Given the description of an element on the screen output the (x, y) to click on. 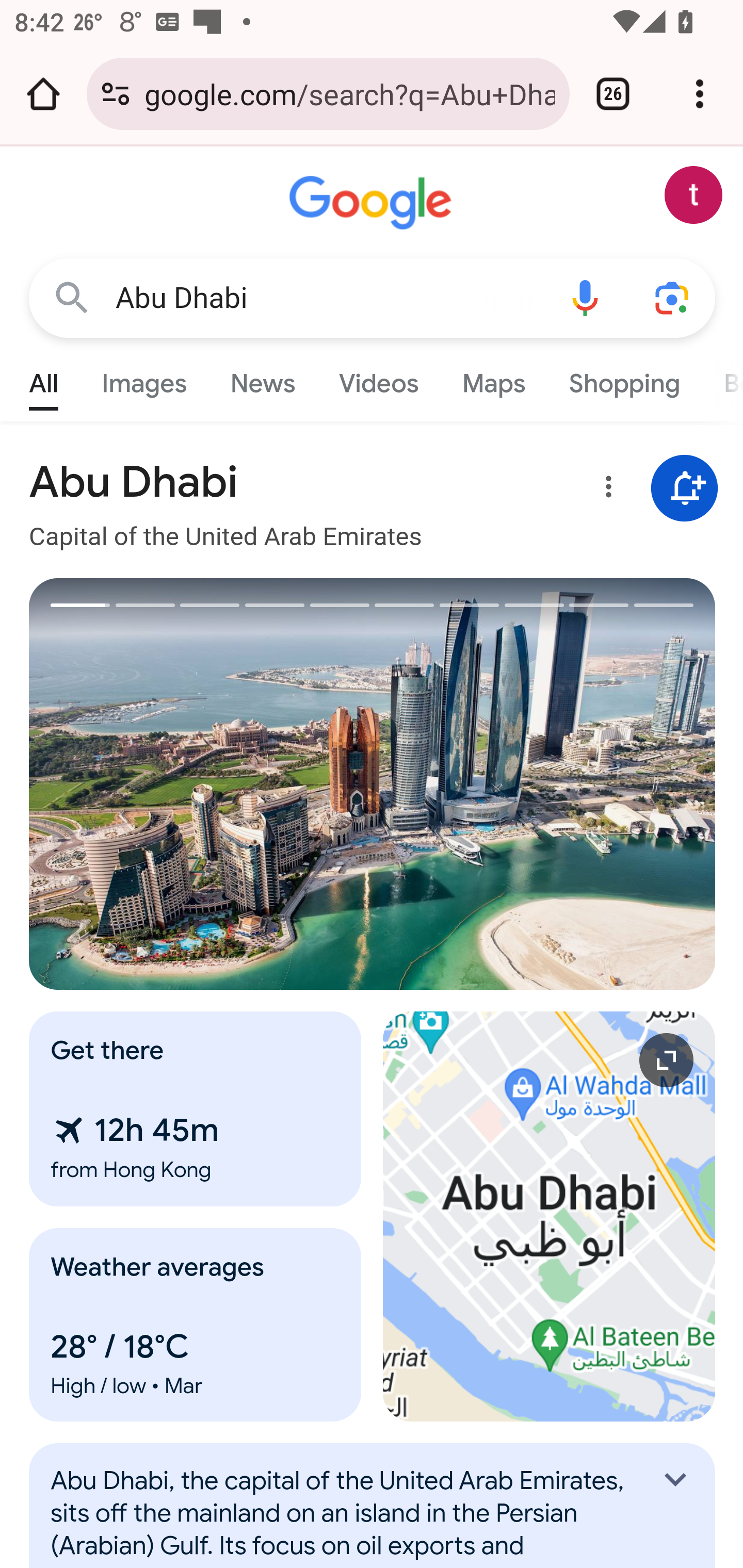
Open the home page (43, 93)
Connection is secure (115, 93)
Switch or close tabs (612, 93)
Customize and control Google Chrome (699, 93)
Google (372, 203)
Google Search (71, 296)
Search using your camera or photos (672, 296)
Abu Dhabi (328, 297)
Images (144, 378)
News (262, 378)
Videos (378, 378)
Maps (493, 378)
Shopping (623, 378)
Get notifications about Abu Dhabi (684, 489)
More options (605, 489)
Previous image (200, 783)
Next image (544, 783)
Expand map (549, 1216)
Weather averages 28° / 18°C High / low • Mar (195, 1324)
